Given the description of an element on the screen output the (x, y) to click on. 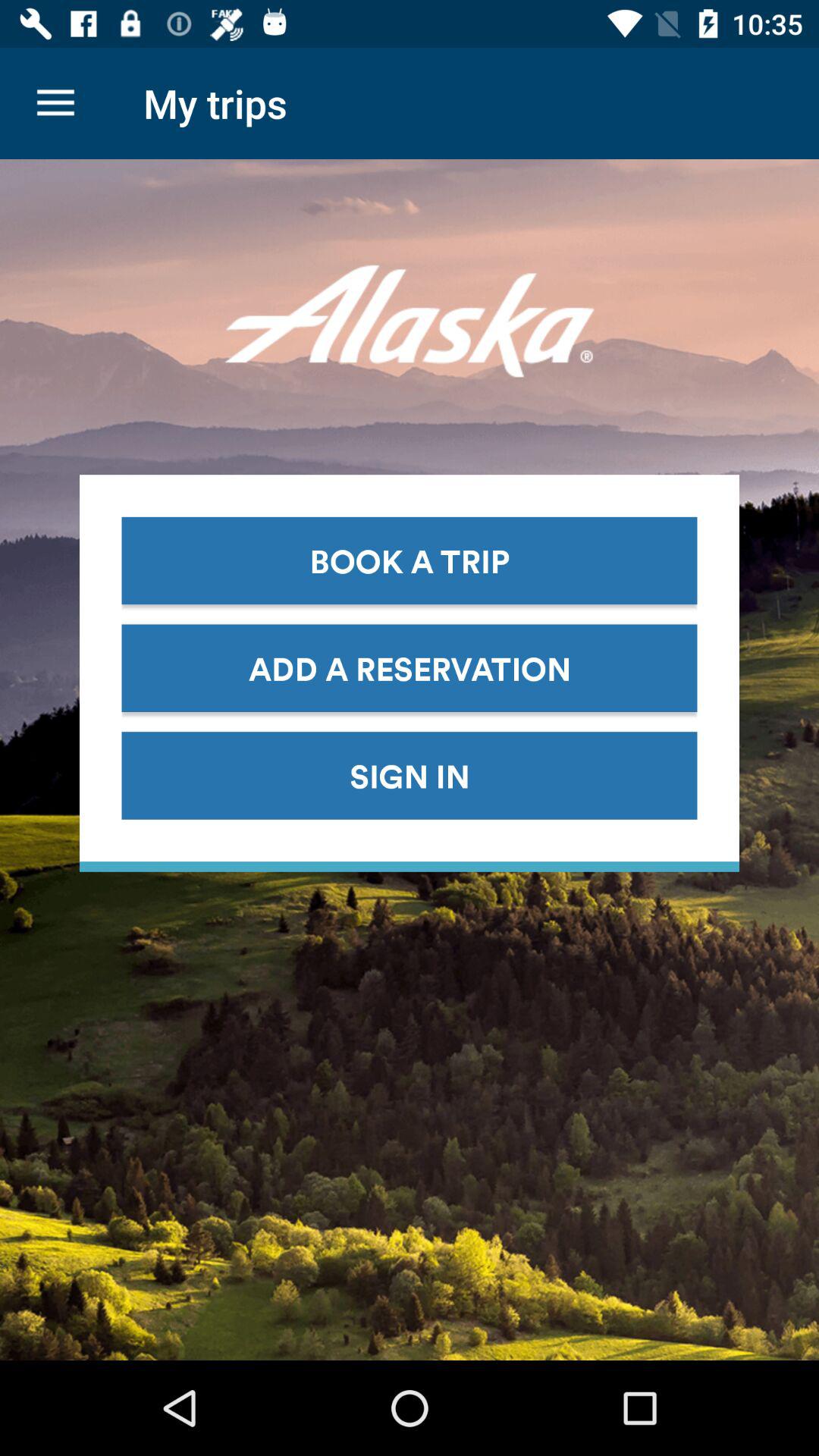
turn on book a trip (409, 560)
